Given the description of an element on the screen output the (x, y) to click on. 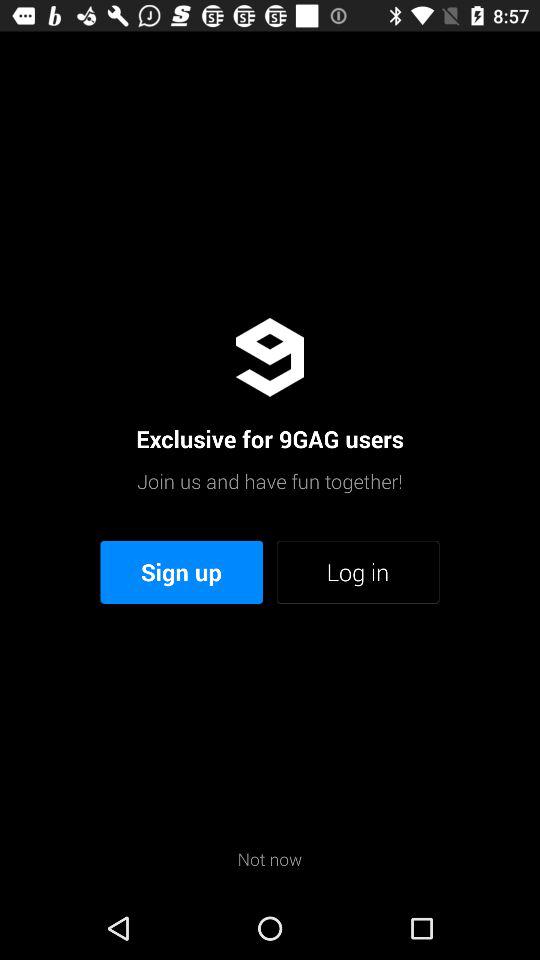
tap the item next to the sign up icon (357, 571)
